Given the description of an element on the screen output the (x, y) to click on. 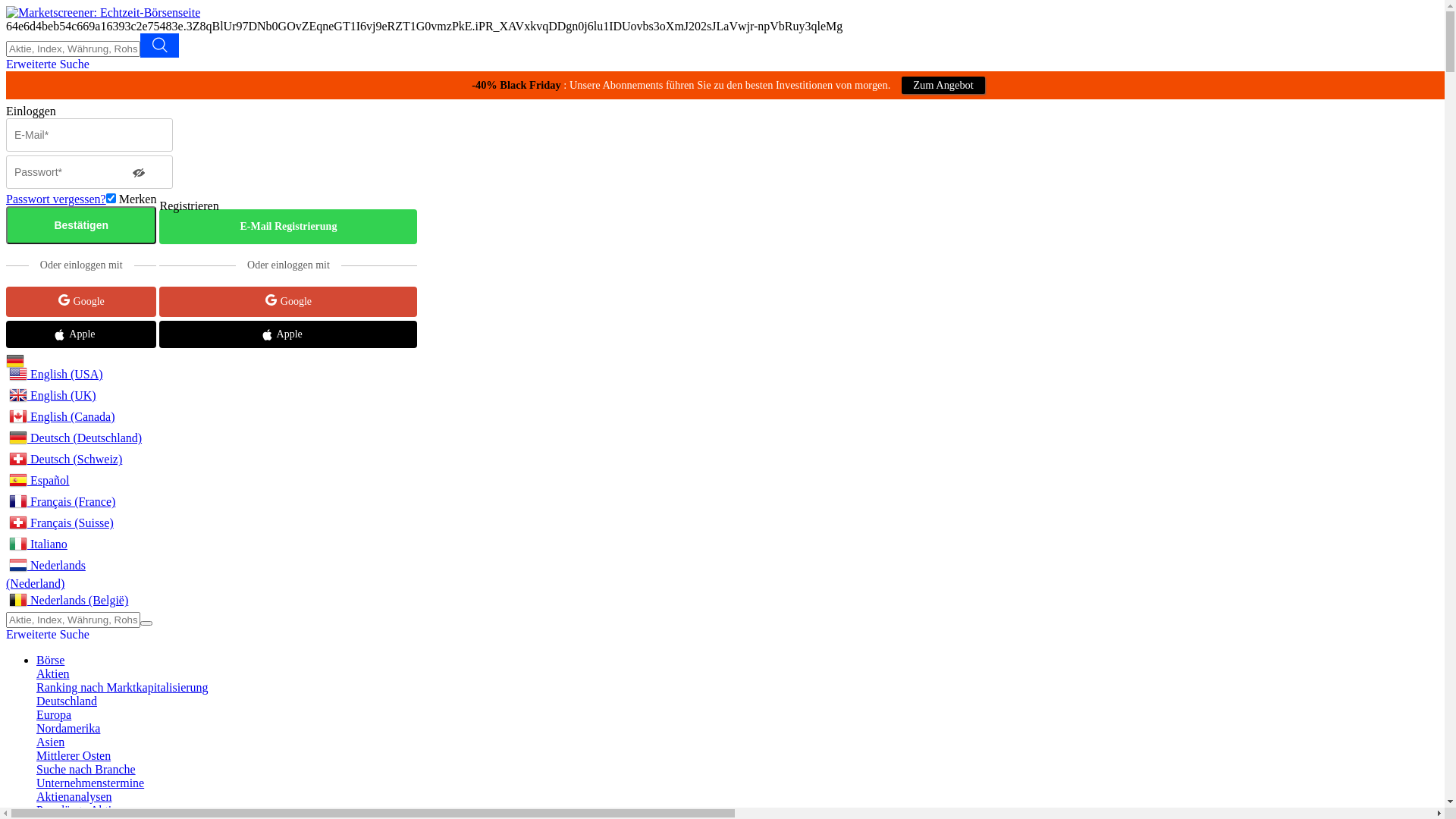
Deutsch (Deutschland) Element type: hover (15, 360)
Registrieren Element type: text (288, 206)
Ranking nach Marktkapitalisierung Element type: text (122, 686)
Apple      Element type: text (288, 334)
Erweiterte Suche Element type: text (47, 63)
Google Element type: text (81, 301)
Asien Element type: text (50, 741)
English (USA) Element type: text (76, 374)
Nederlands (Nederland) Element type: text (76, 572)
English (Canada) Element type: text (76, 417)
Europa Element type: text (53, 714)
Aktienanalysen Element type: text (74, 796)
Deutsch (Deutschland) Element type: text (76, 438)
Einloggen Element type: text (81, 111)
Unternehmenstermine Element type: text (90, 782)
Suchen Element type: hover (146, 623)
E-Mail Registrierung Element type: text (288, 226)
Marketscreener : Aktienmarkt und Finanznachrichten Element type: hover (103, 12)
Passwort vergessen? Element type: text (56, 198)
Aktien Element type: text (52, 673)
Italiano Element type: text (76, 544)
Apple      Element type: text (81, 334)
Deutsch (Schweiz) Element type: text (76, 459)
Nordamerika Element type: text (68, 727)
Suche nach Branche Element type: text (85, 768)
Google Element type: text (288, 301)
English (UK) Element type: text (76, 396)
Mittlerer Osten Element type: text (73, 755)
Deutschland Element type: text (66, 700)
Erweiterte Suche Element type: hover (159, 45)
Erweiterte Suche Element type: text (47, 633)
